Given the description of an element on the screen output the (x, y) to click on. 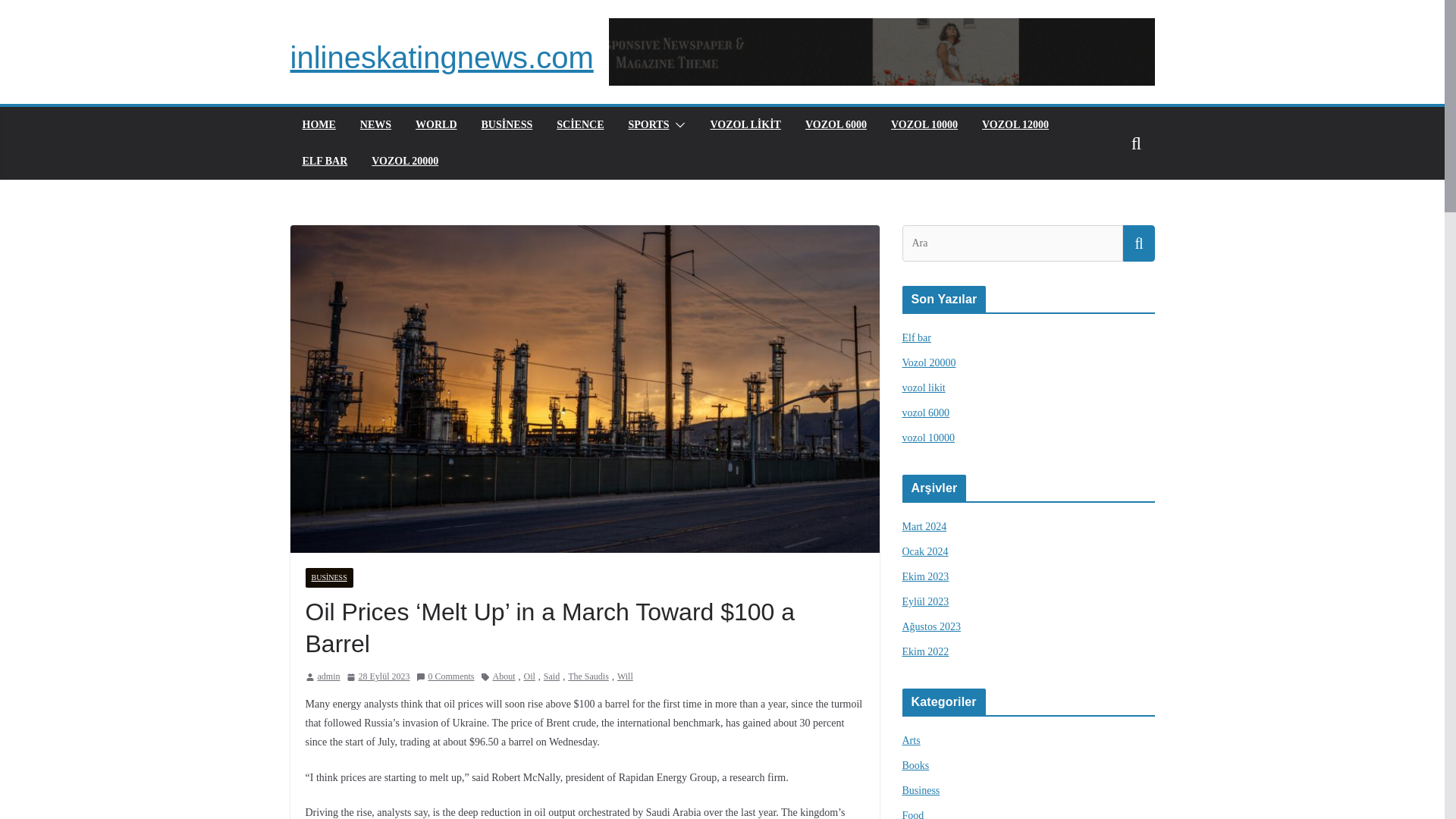
VOZOL LIKIT (745, 124)
About (504, 677)
Elf bar (916, 337)
Ekim 2023 (925, 576)
VOZOL 12000 (1014, 124)
VOZOL 10000 (924, 124)
VOZOL 20000 (404, 160)
admin (328, 677)
Mart 2024 (924, 526)
vozol 6000 (926, 412)
HOME (317, 124)
Vozol 20000 (929, 362)
0 Comments (444, 677)
Said (551, 677)
vozol 10000 (928, 437)
